Given the description of an element on the screen output the (x, y) to click on. 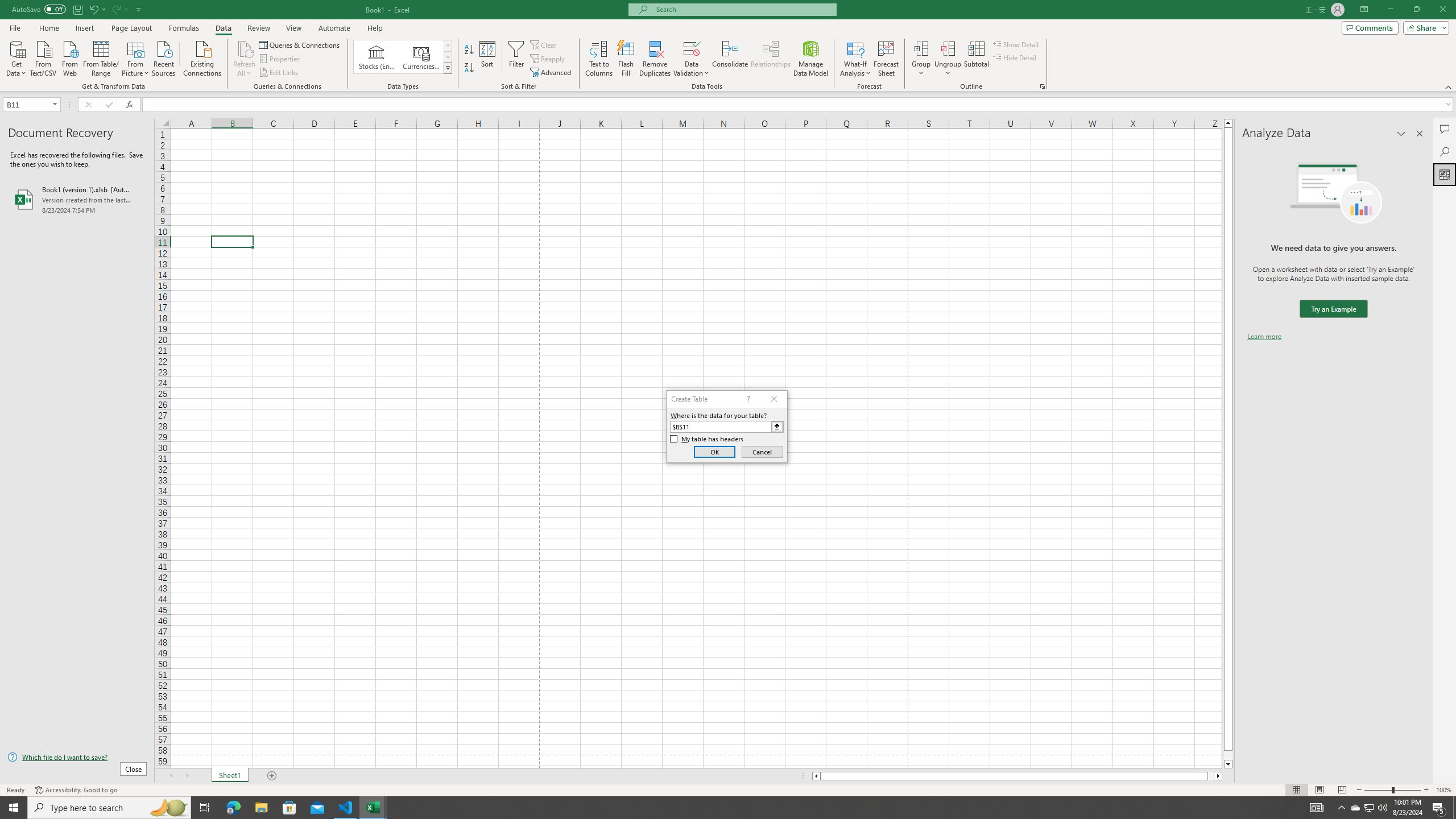
Analyze Data (1444, 173)
Filter (515, 58)
From Web (69, 57)
Advanced... (551, 72)
Remove Duplicates (654, 58)
Data Validation... (691, 48)
Sort Z to A (469, 67)
Flash Fill (625, 58)
Consolidate... (729, 58)
Relationships (770, 58)
Data Validation... (691, 58)
